Given the description of an element on the screen output the (x, y) to click on. 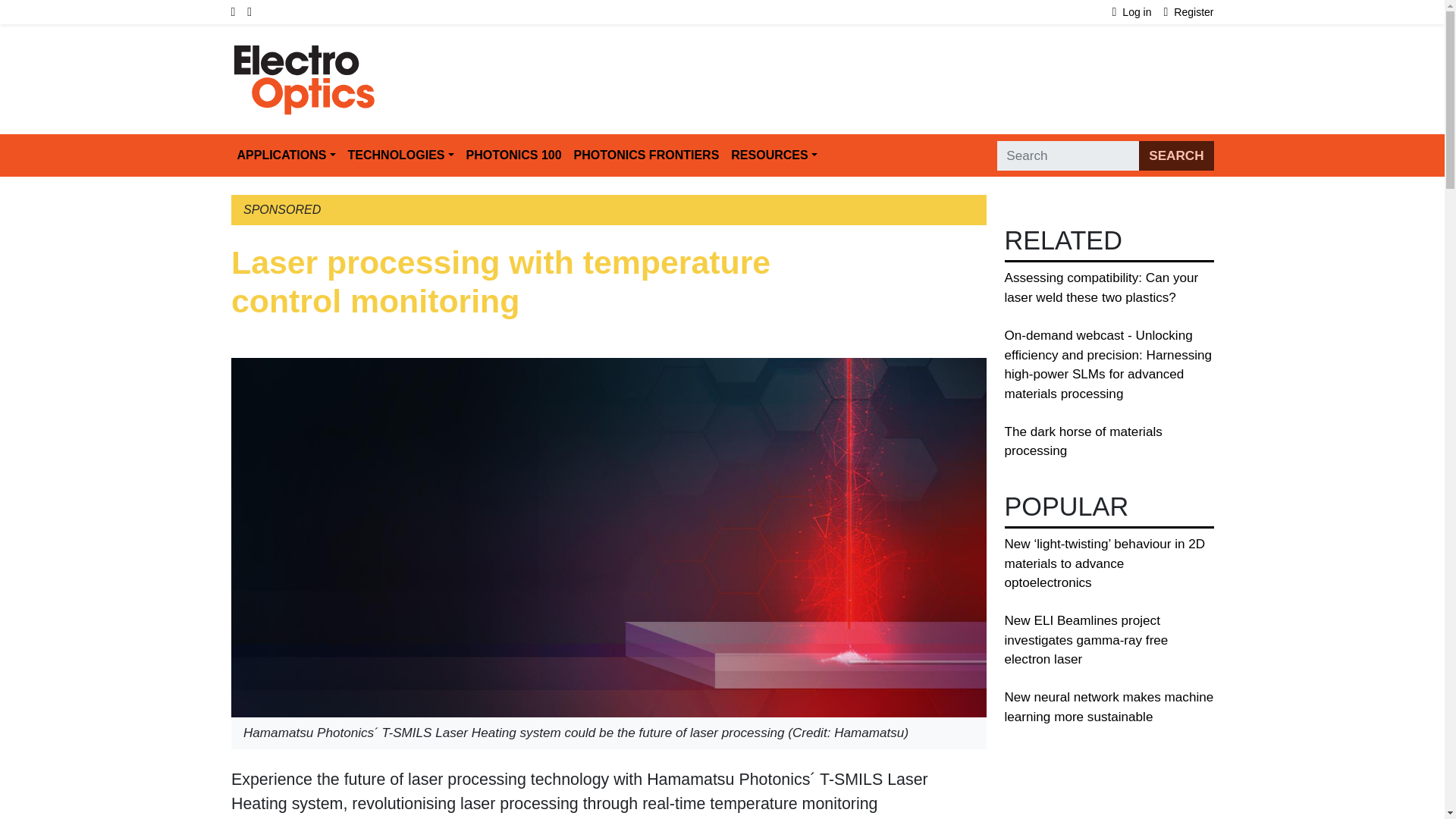
Home (304, 51)
The dark horse of materials processing (1082, 441)
Log in (1137, 12)
SEARCH (1175, 155)
PHOTONICS FRONTIERS (646, 155)
Enter the terms you wish to search for. (1067, 155)
PHOTONICS 100 (513, 155)
Register (1188, 12)
